Given the description of an element on the screen output the (x, y) to click on. 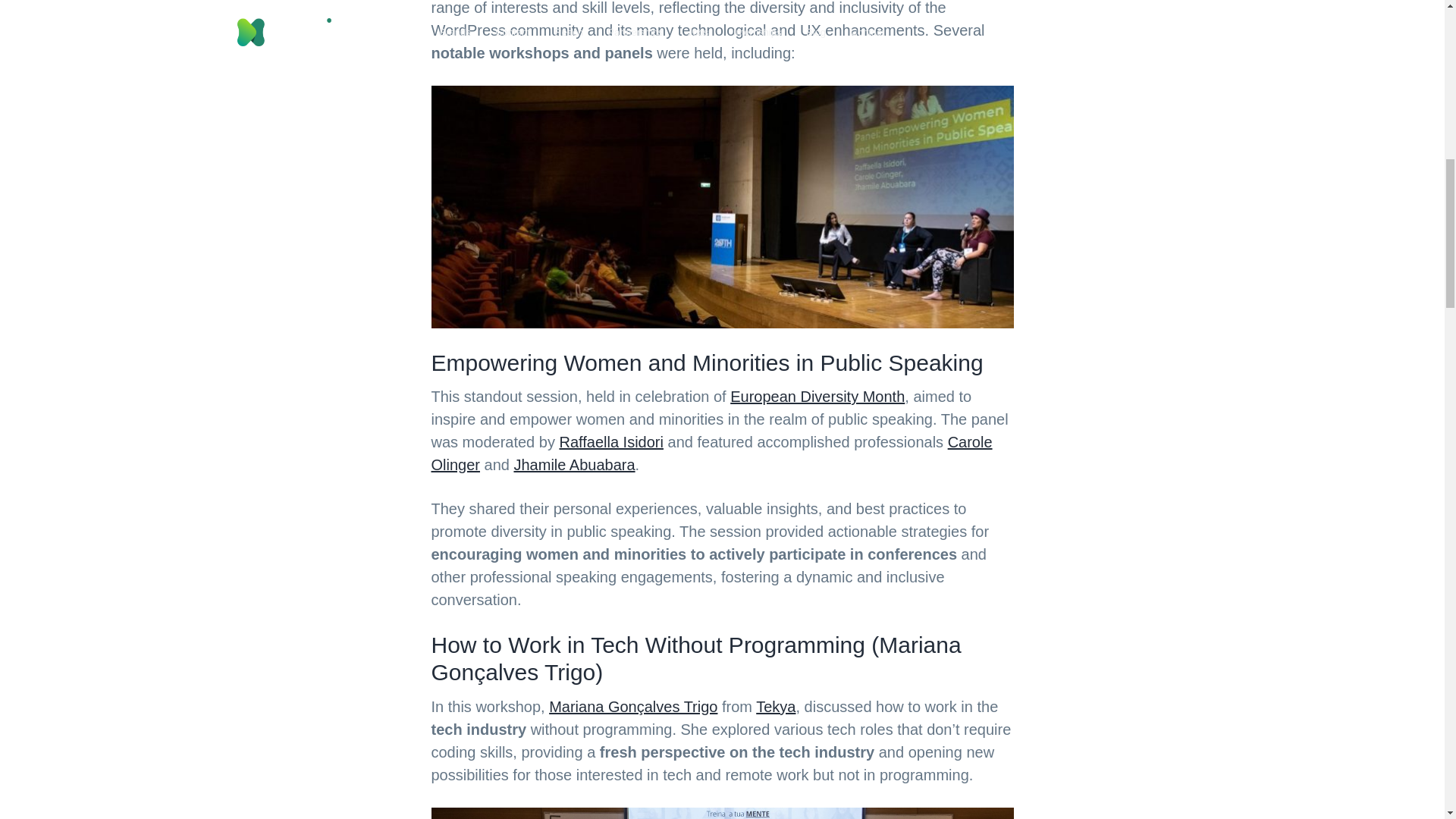
Raffaella Isidori (610, 442)
Carole Olinger (710, 453)
Jhamile Abuabara (573, 464)
Tekya (774, 706)
European Diversity Month (817, 396)
